Given the description of an element on the screen output the (x, y) to click on. 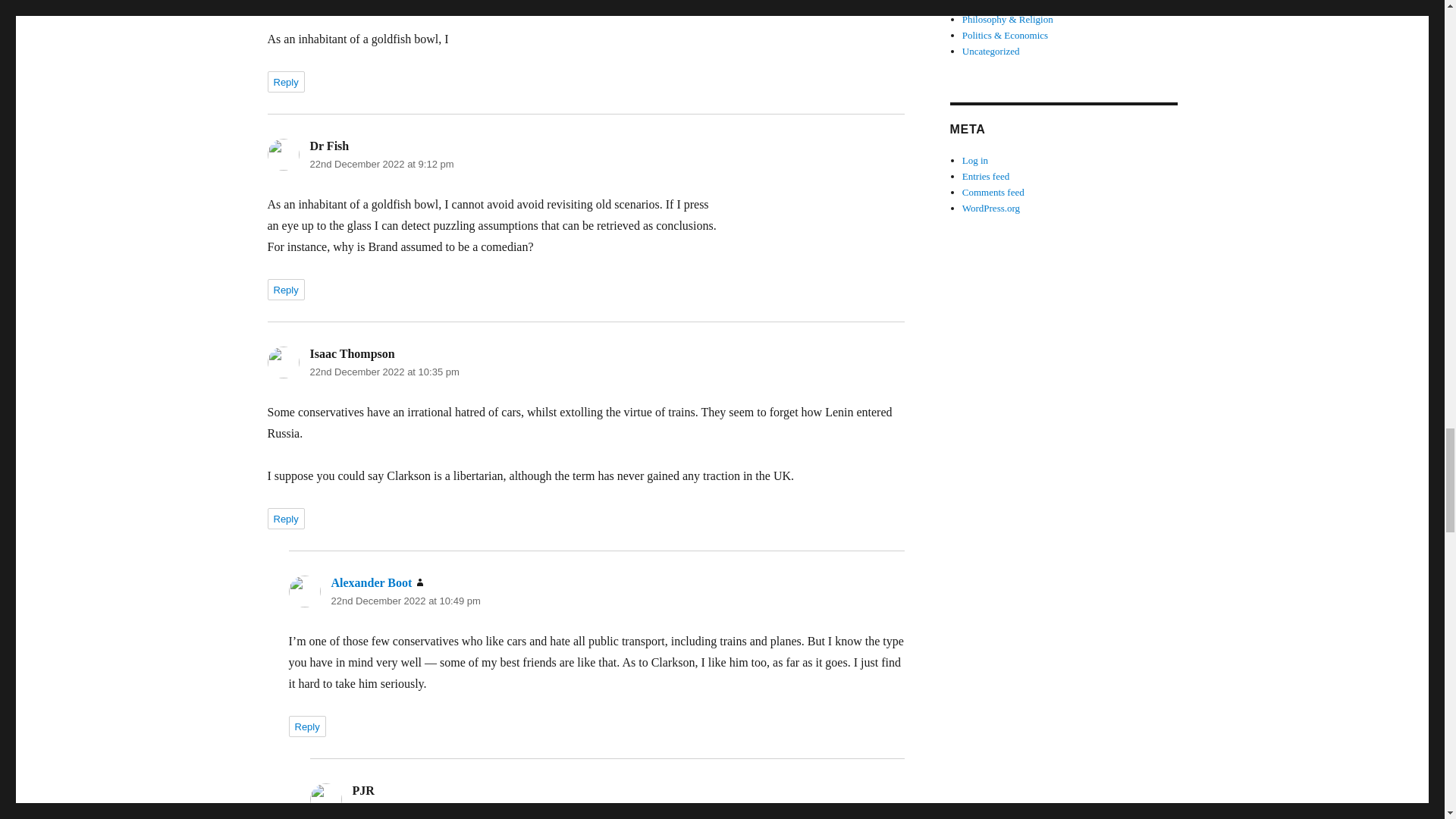
22nd December 2022 at 10:35 pm (383, 371)
Reply (306, 726)
Alexander Boot (371, 582)
Reply (285, 289)
22nd December 2022 at 10:49 pm (405, 600)
22nd December 2022 at 9:12 pm (380, 163)
Reply (285, 518)
Reply (285, 81)
22nd December 2022 at 8:59 pm (380, 2)
24th December 2022 at 4:55 pm (422, 808)
